Given the description of an element on the screen output the (x, y) to click on. 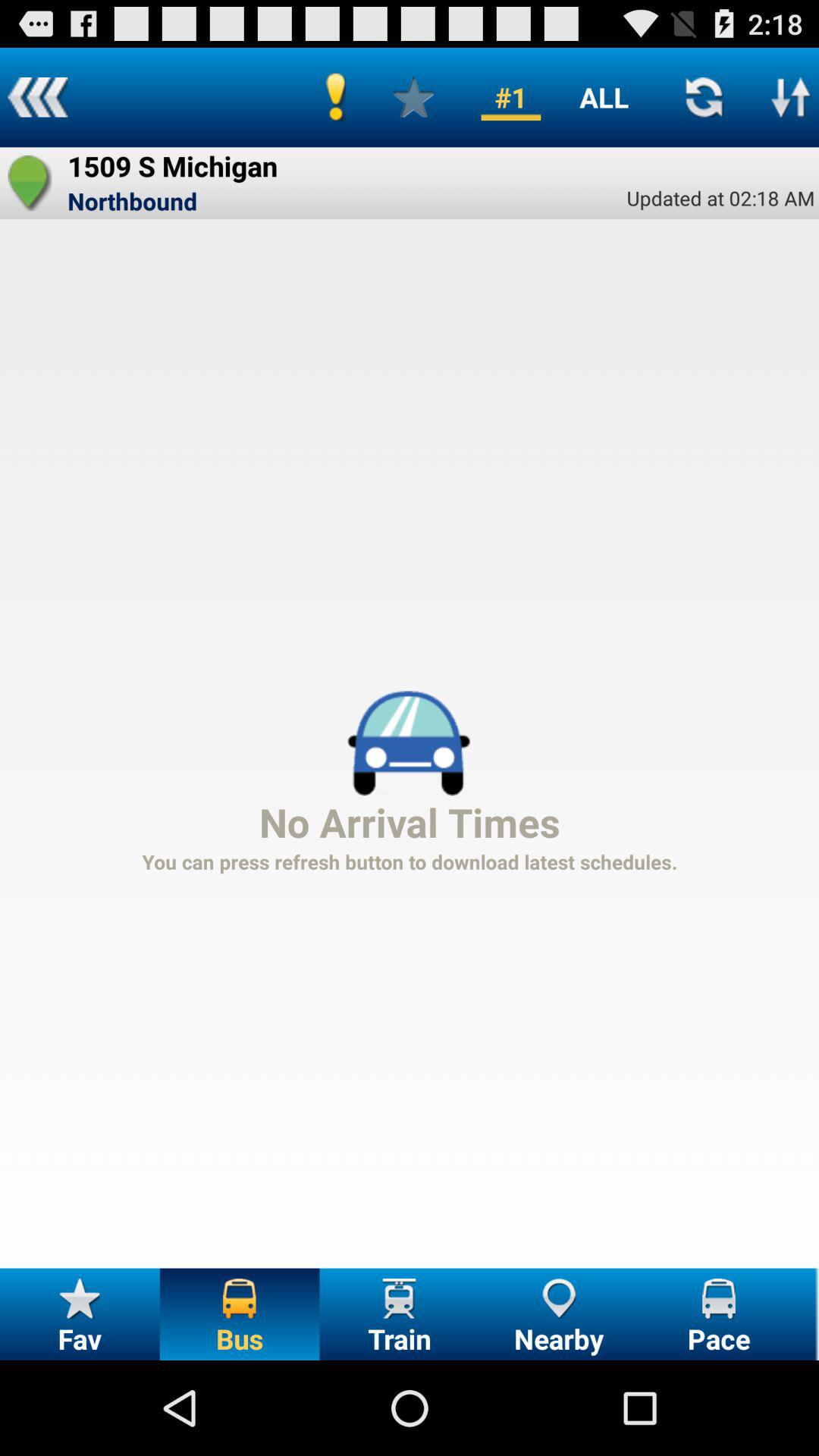
choose icon above updated at 02 (603, 97)
